Given the description of an element on the screen output the (x, y) to click on. 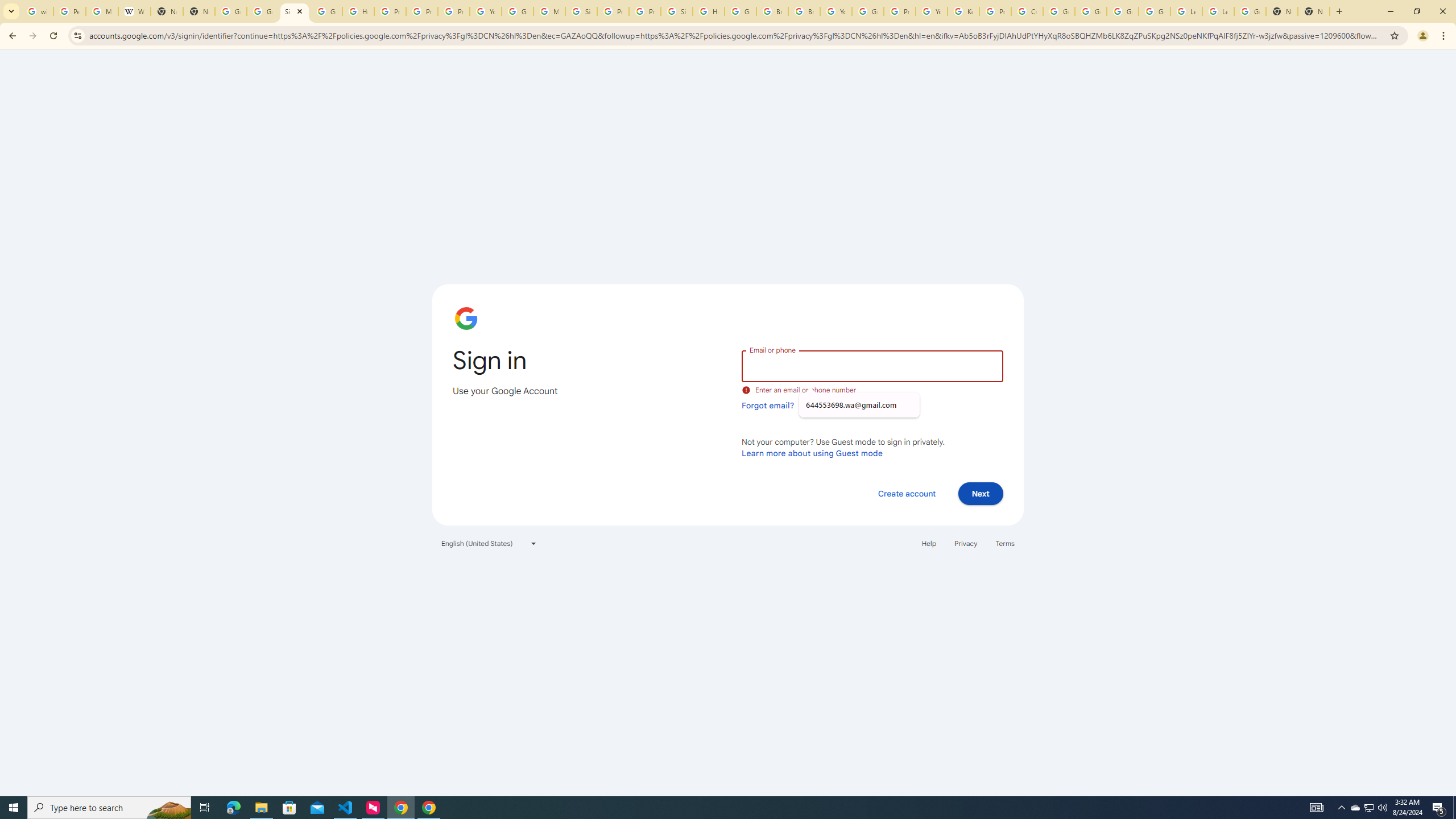
YouTube (931, 11)
Email or phone (871, 365)
Learn more about using Guest mode (812, 452)
Forgot email? (767, 404)
